Given the description of an element on the screen output the (x, y) to click on. 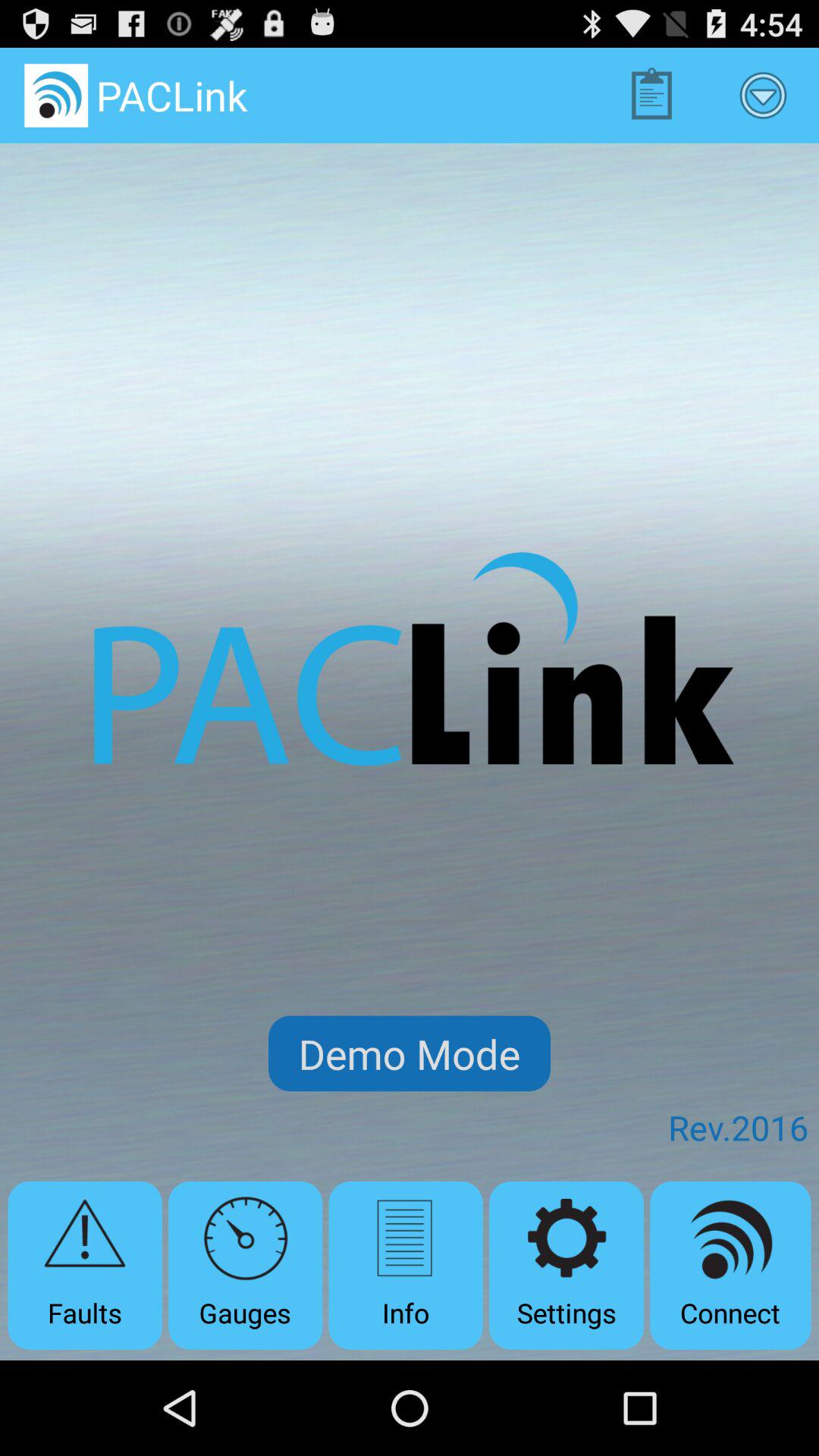
choose icon below demo mode (405, 1265)
